Given the description of an element on the screen output the (x, y) to click on. 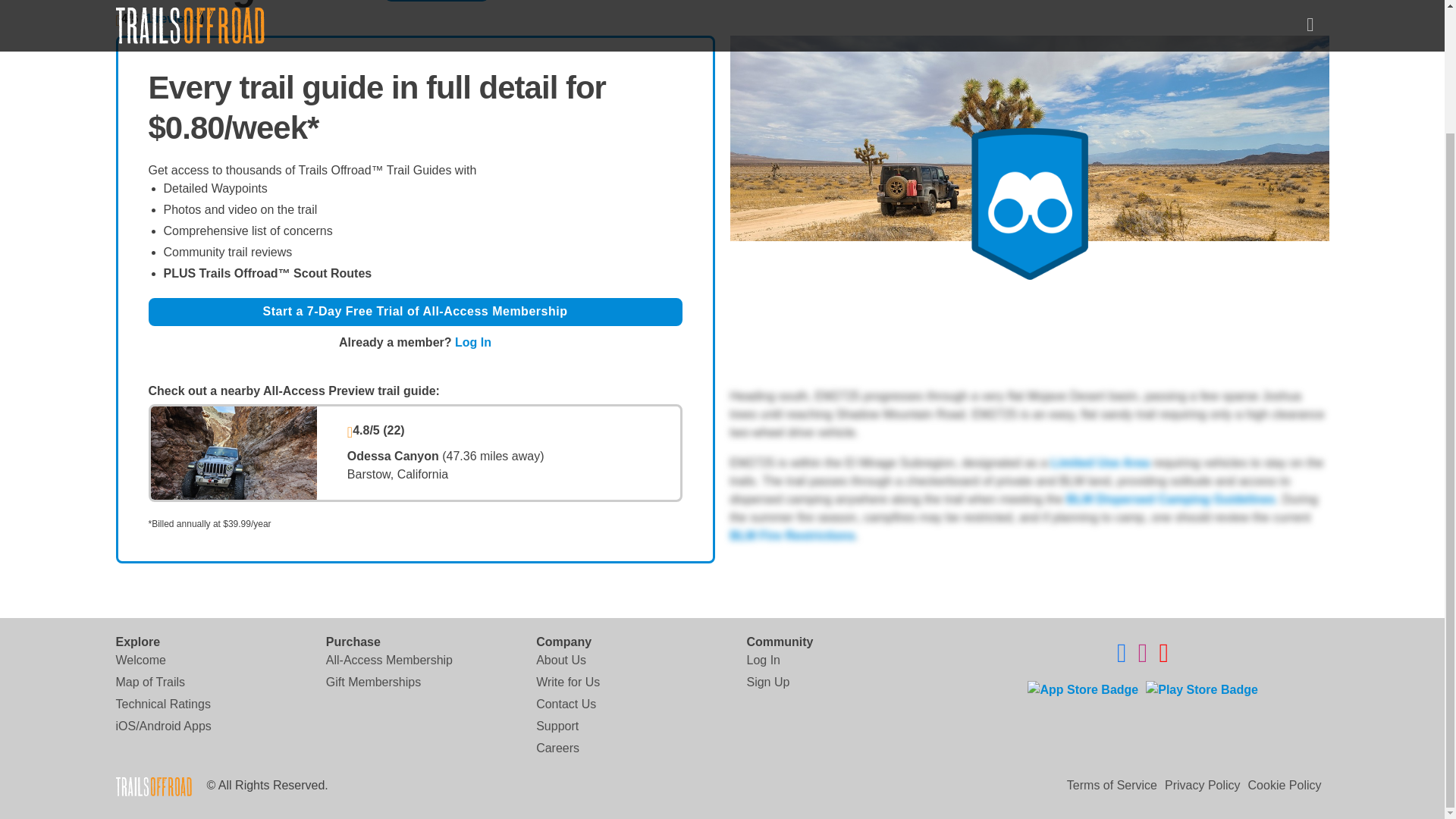
Start a 7-Day Free Trial of All-Access Membership (415, 311)
About Us (560, 660)
Technical Ratings (162, 704)
Log In (761, 660)
Limited Use Area (1100, 462)
Support (556, 726)
Map of Trails (149, 682)
BLM Dispersed Camping Guidelines (1168, 499)
Contact Us (565, 704)
Gift Memberships (373, 682)
Sign Up (767, 682)
BLM Fire Restrictions (791, 535)
All-Access Membership (389, 660)
Careers (557, 748)
Write for Us (567, 682)
